Given the description of an element on the screen output the (x, y) to click on. 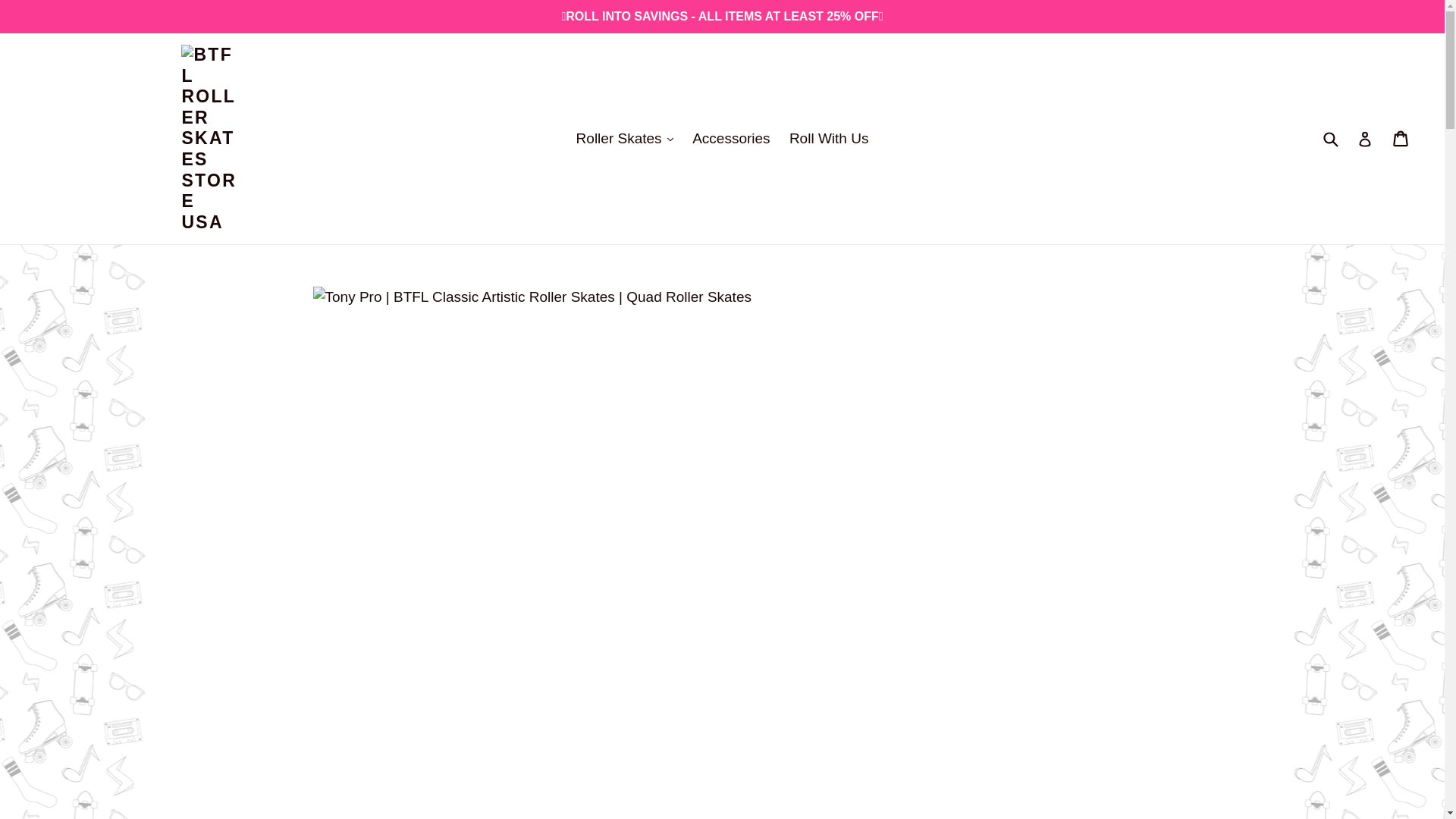
Roll With Us (828, 139)
Accessories (730, 139)
